Given the description of an element on the screen output the (x, y) to click on. 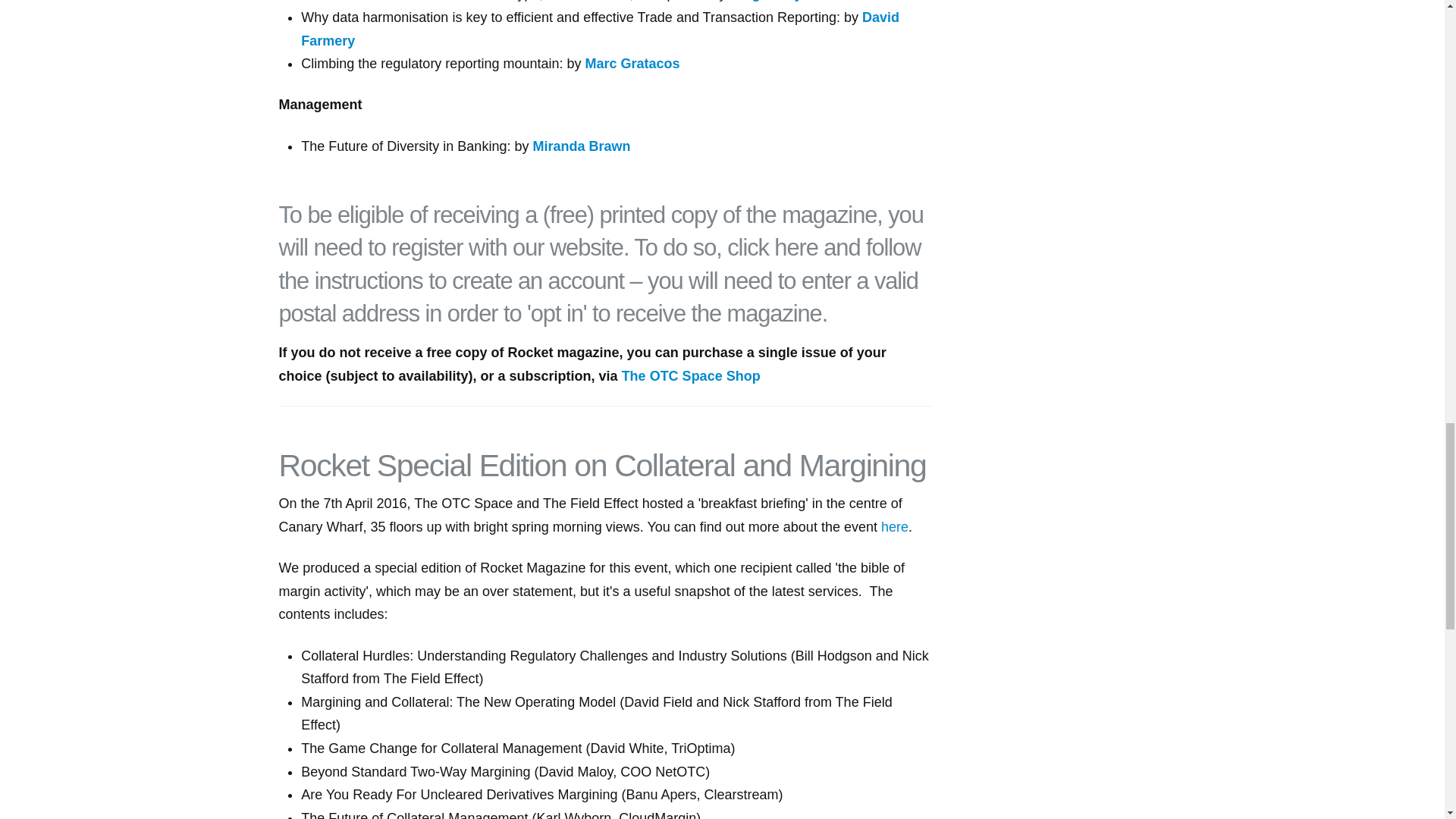
Marc Gratacos (632, 63)
Sergei Mayorov (780, 0)
David Farmery (600, 28)
